Given the description of an element on the screen output the (x, y) to click on. 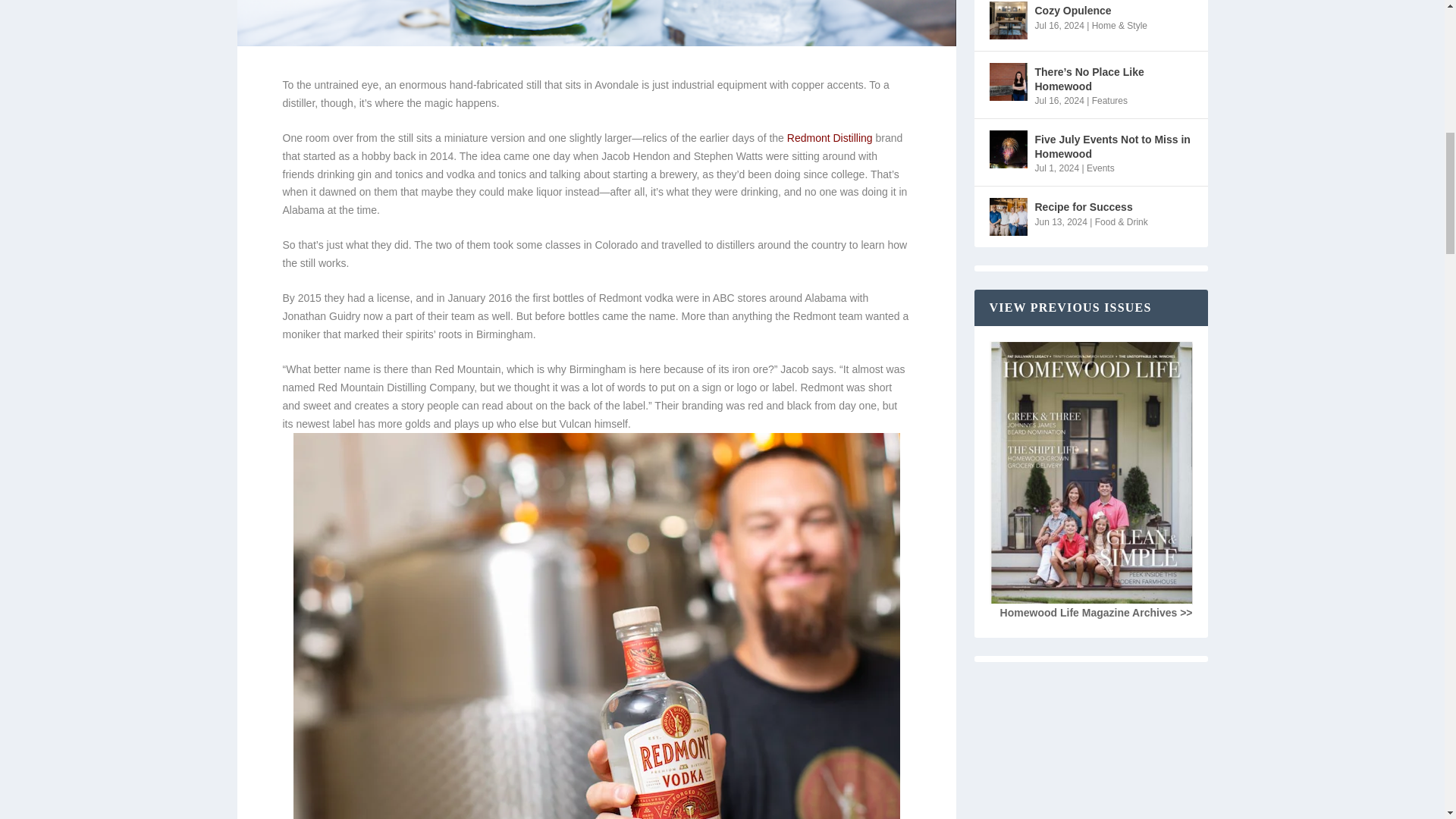
Redmont Distilling (829, 137)
